Given the description of an element on the screen output the (x, y) to click on. 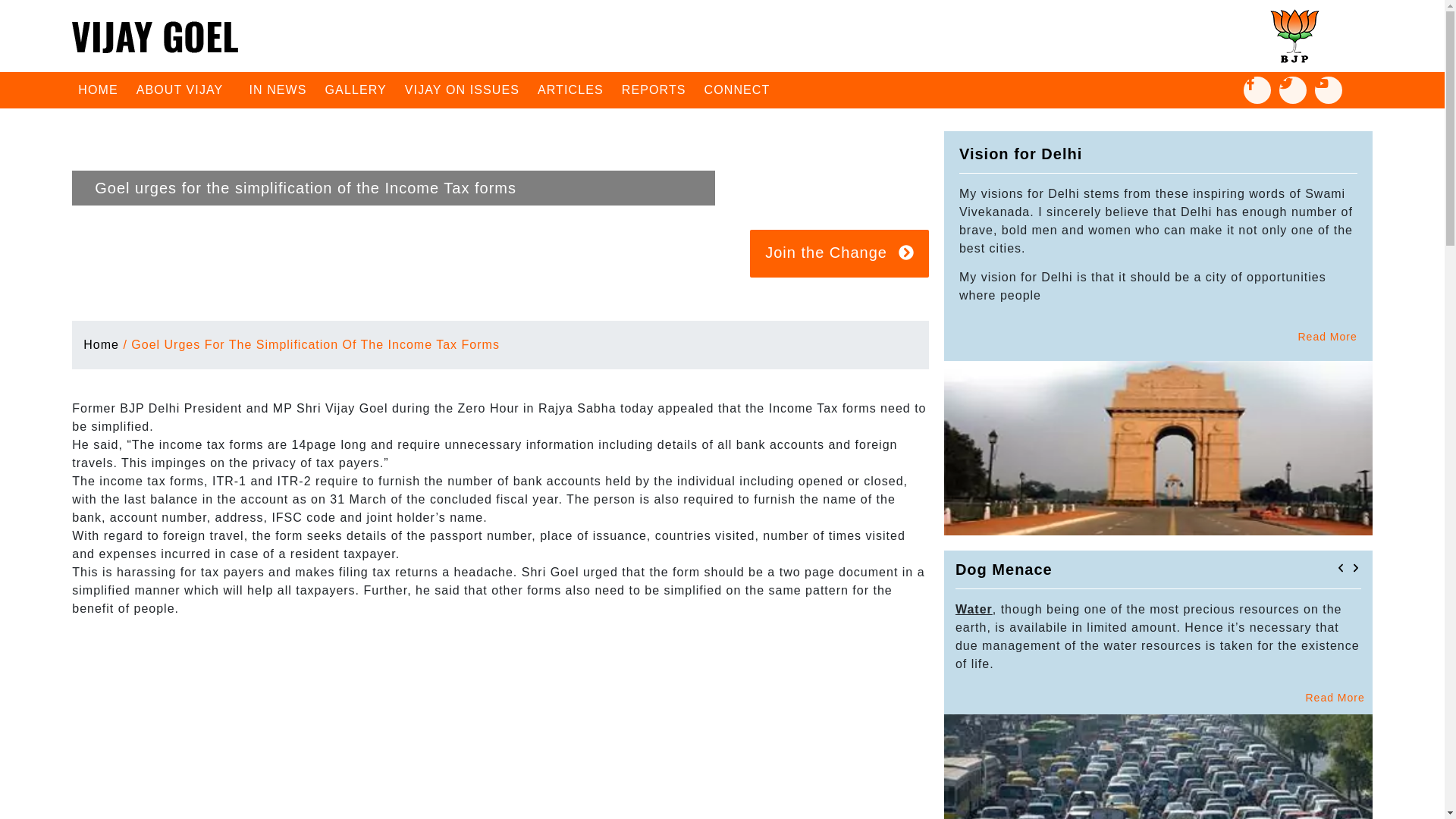
HOME (97, 90)
ABOUT VIJAY (184, 90)
REPORTS (654, 90)
ARTICLES (570, 90)
GALLERY (355, 90)
CONNECT (737, 90)
VIJAY ON ISSUES (461, 90)
IN NEWS (278, 90)
